Given the description of an element on the screen output the (x, y) to click on. 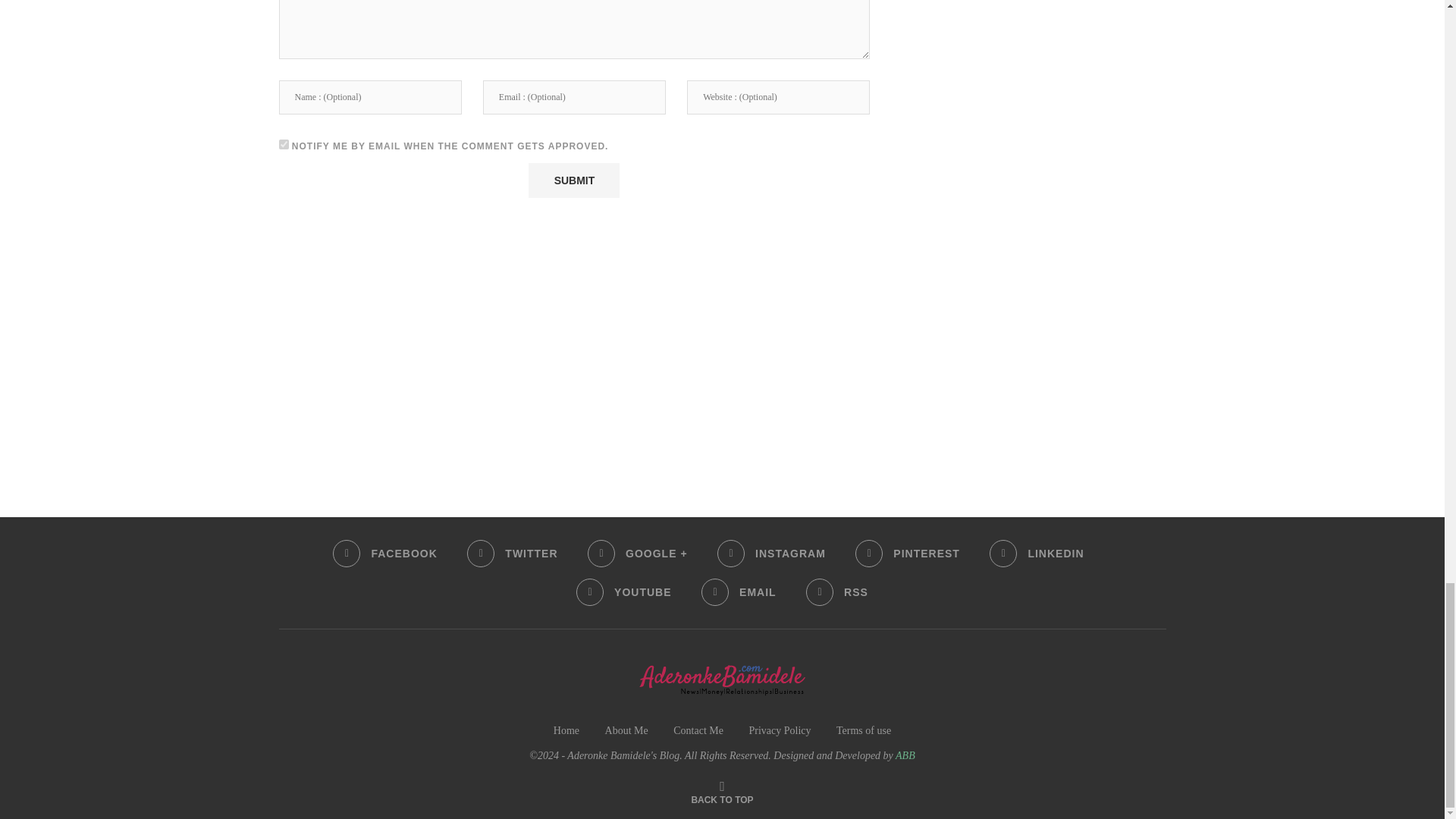
1 (283, 144)
Submit (574, 180)
